Given the description of an element on the screen output the (x, y) to click on. 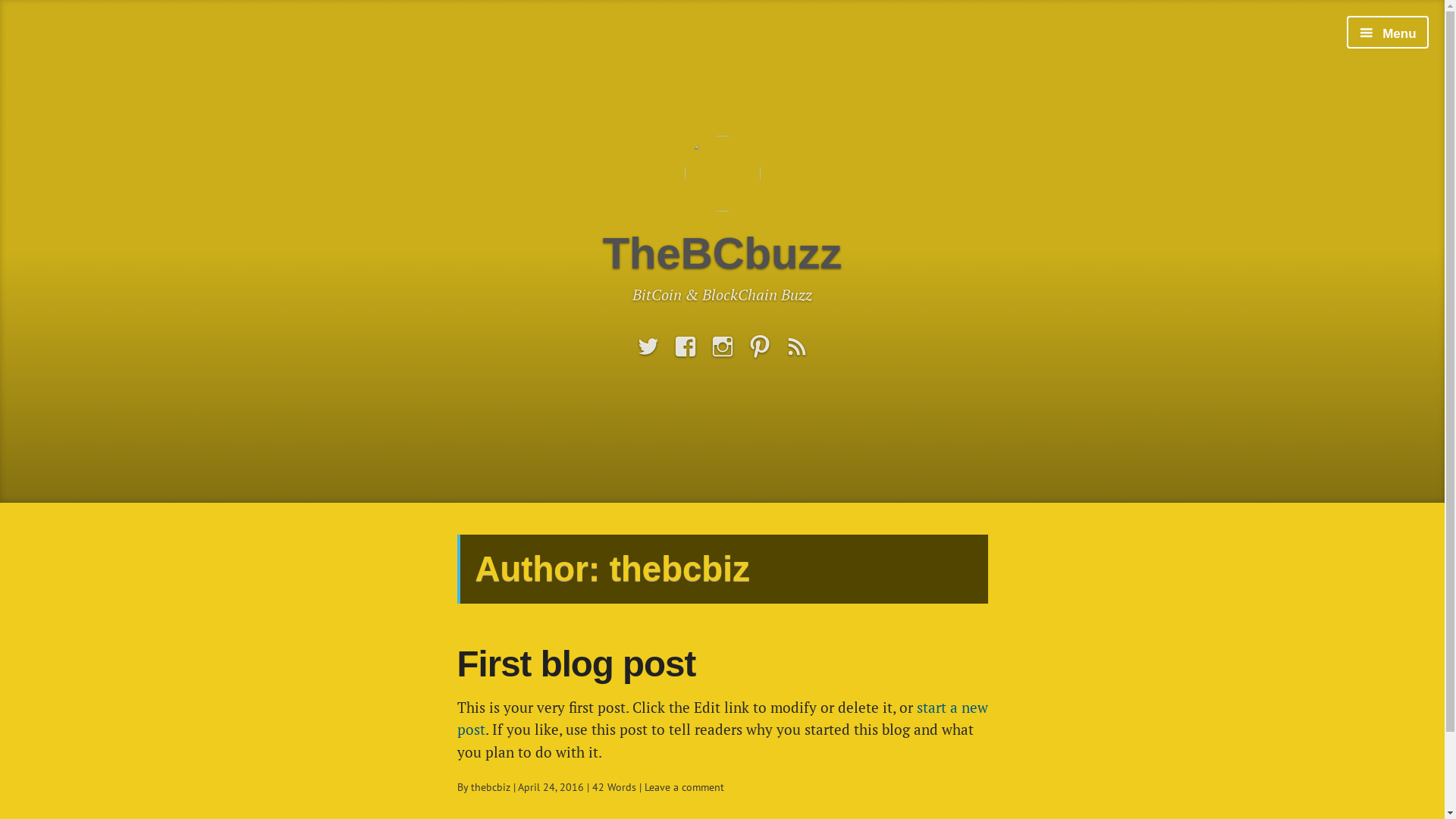
TheBCbuzz Element type: text (722, 251)
Menu Element type: text (1387, 31)
Leave a comment Element type: text (684, 786)
April 24, 2016 Element type: text (550, 786)
First blog post Element type: text (575, 663)
thebcbiz Element type: text (489, 786)
start a new post Element type: text (721, 717)
